Given the description of an element on the screen output the (x, y) to click on. 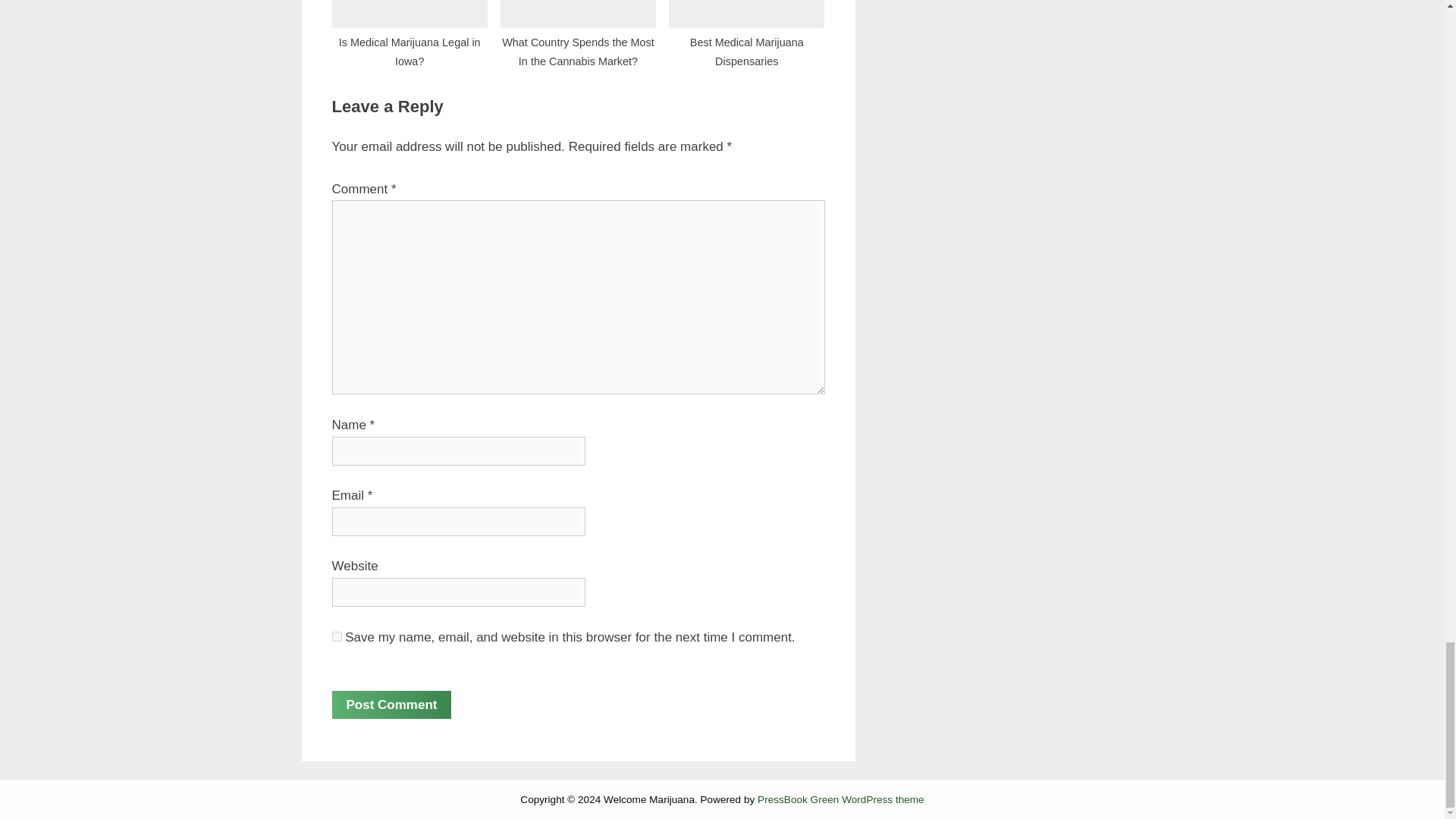
yes (336, 636)
Post Comment (391, 705)
